Given the description of an element on the screen output the (x, y) to click on. 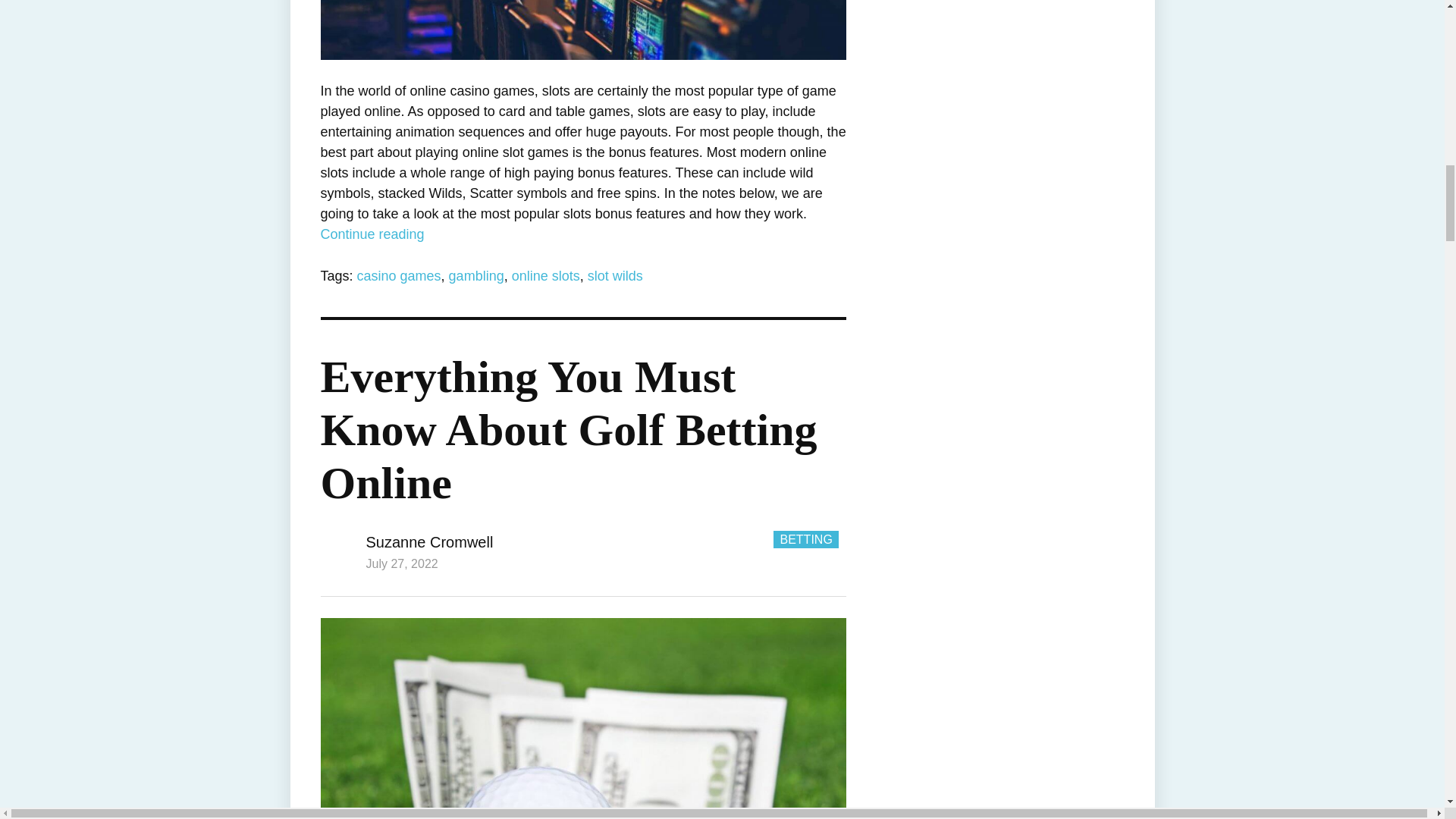
slot wilds (615, 275)
online slots (545, 275)
BETTING (805, 538)
Suzanne Cromwell (429, 541)
July 27, 2022 (401, 563)
Everything You Must Know About Golf Betting Online (568, 429)
gambling (475, 275)
casino games (398, 275)
